Given the description of an element on the screen output the (x, y) to click on. 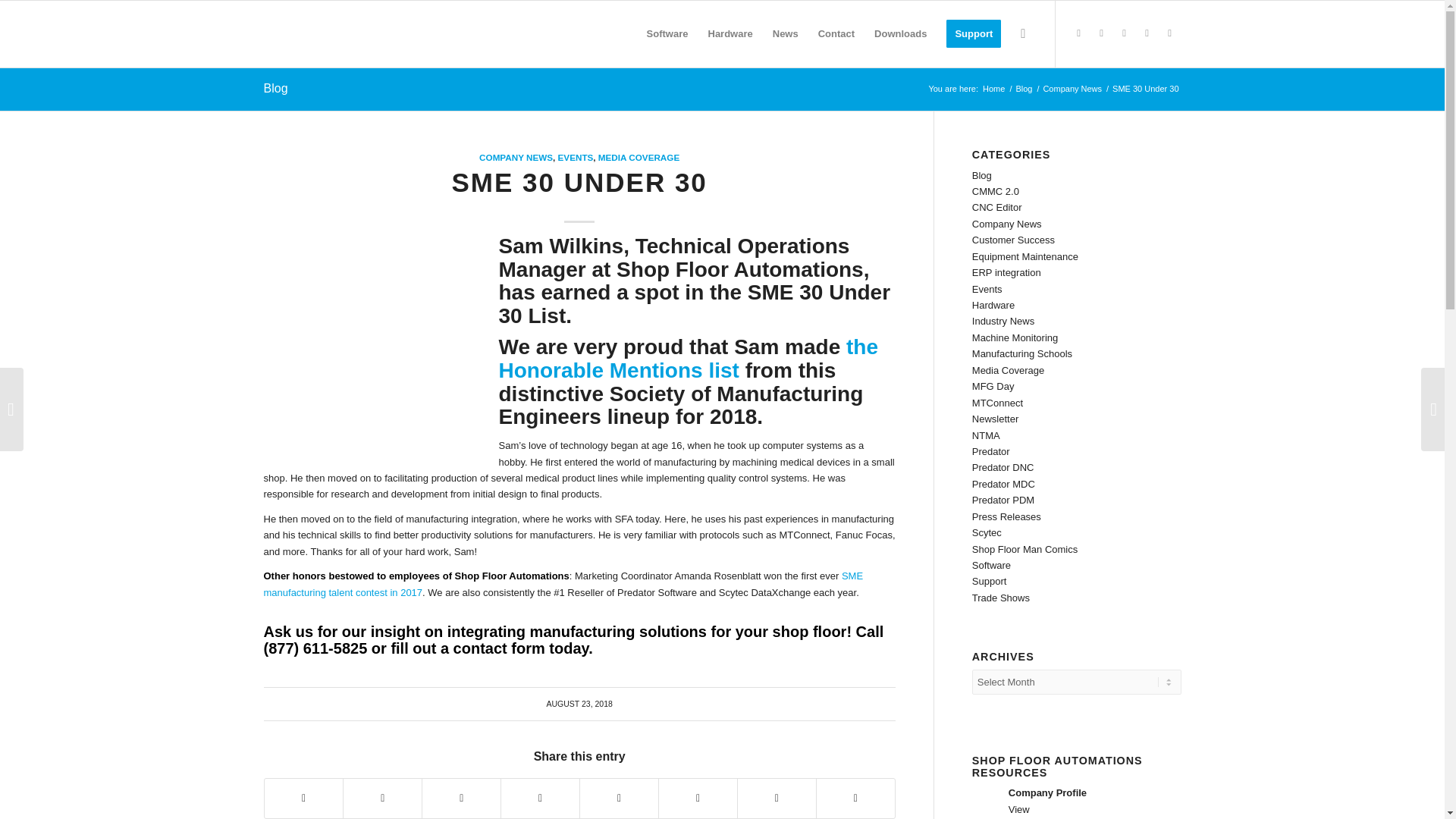
LinkedIn (1146, 33)
Software (667, 33)
Permanent Link: Blog (275, 88)
Blog (1023, 89)
Shop Floor Automations (993, 89)
Downloads (900, 33)
Support (973, 33)
Facebook (1124, 33)
Twitter (1078, 33)
Youtube (1169, 33)
